Given the description of an element on the screen output the (x, y) to click on. 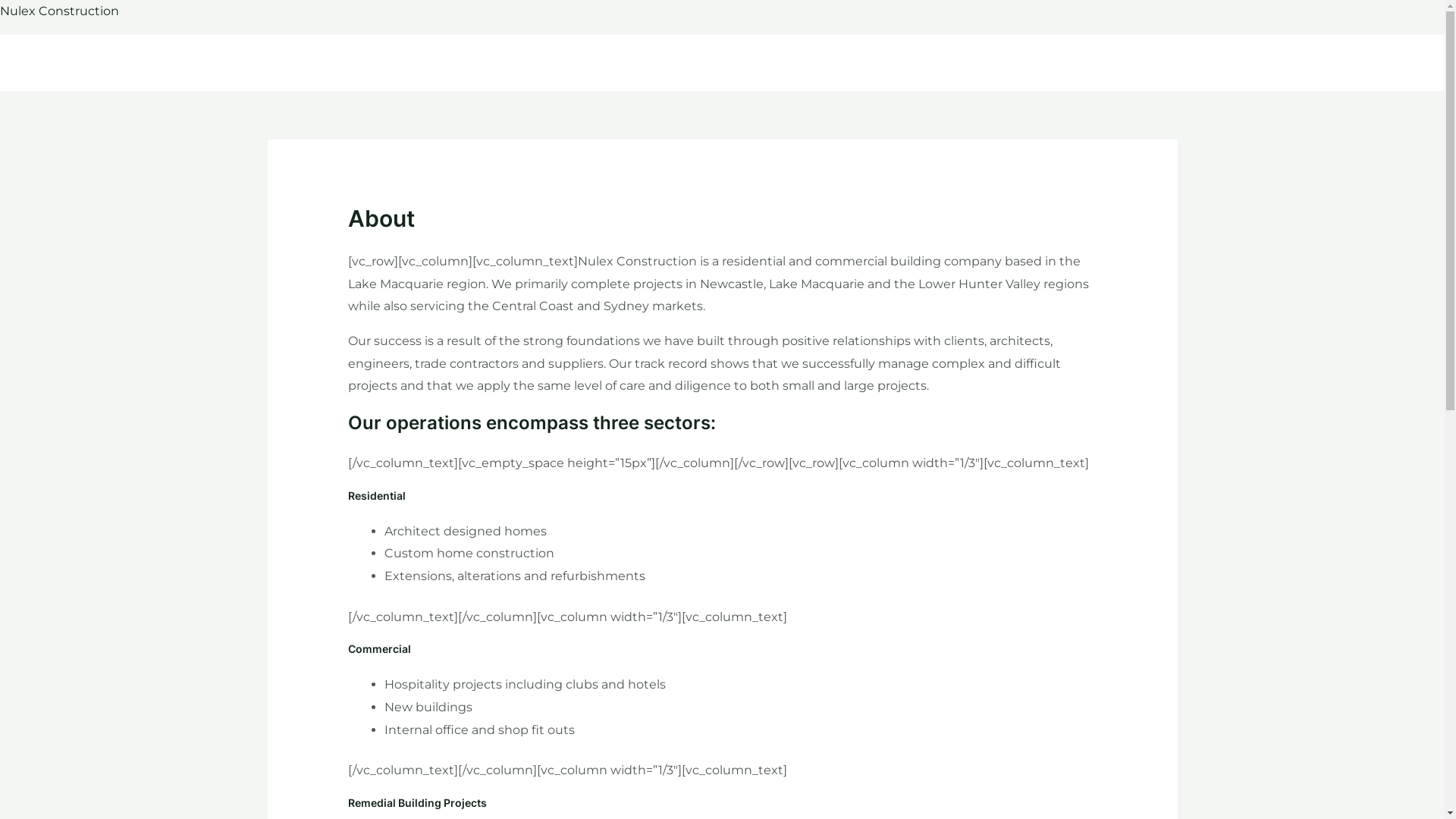
Nulex Construction Element type: text (59, 10)
